Given the description of an element on the screen output the (x, y) to click on. 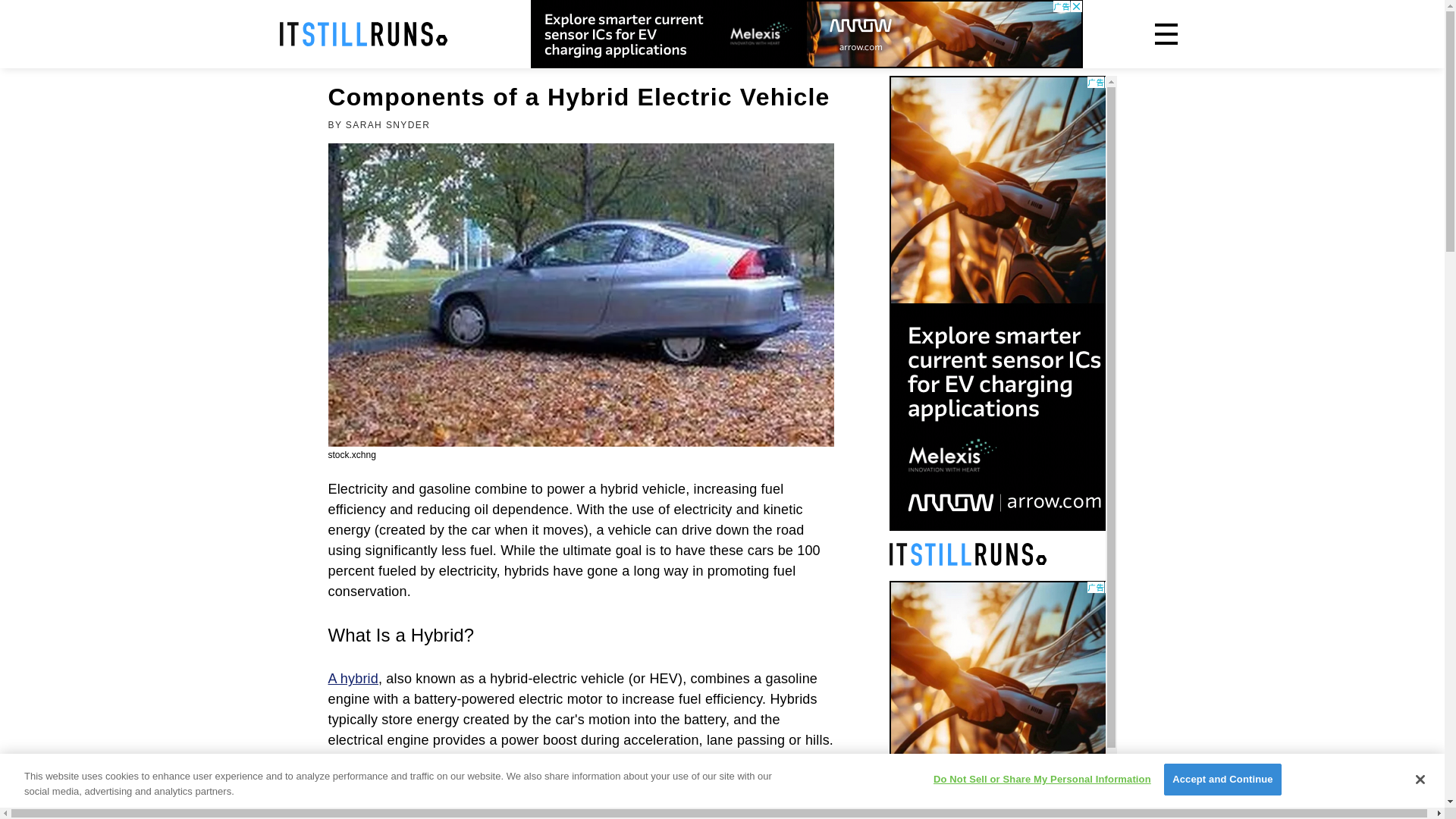
3rd party ad content (807, 33)
A hybrid (352, 678)
3rd party ad content (1002, 699)
